Given the description of an element on the screen output the (x, y) to click on. 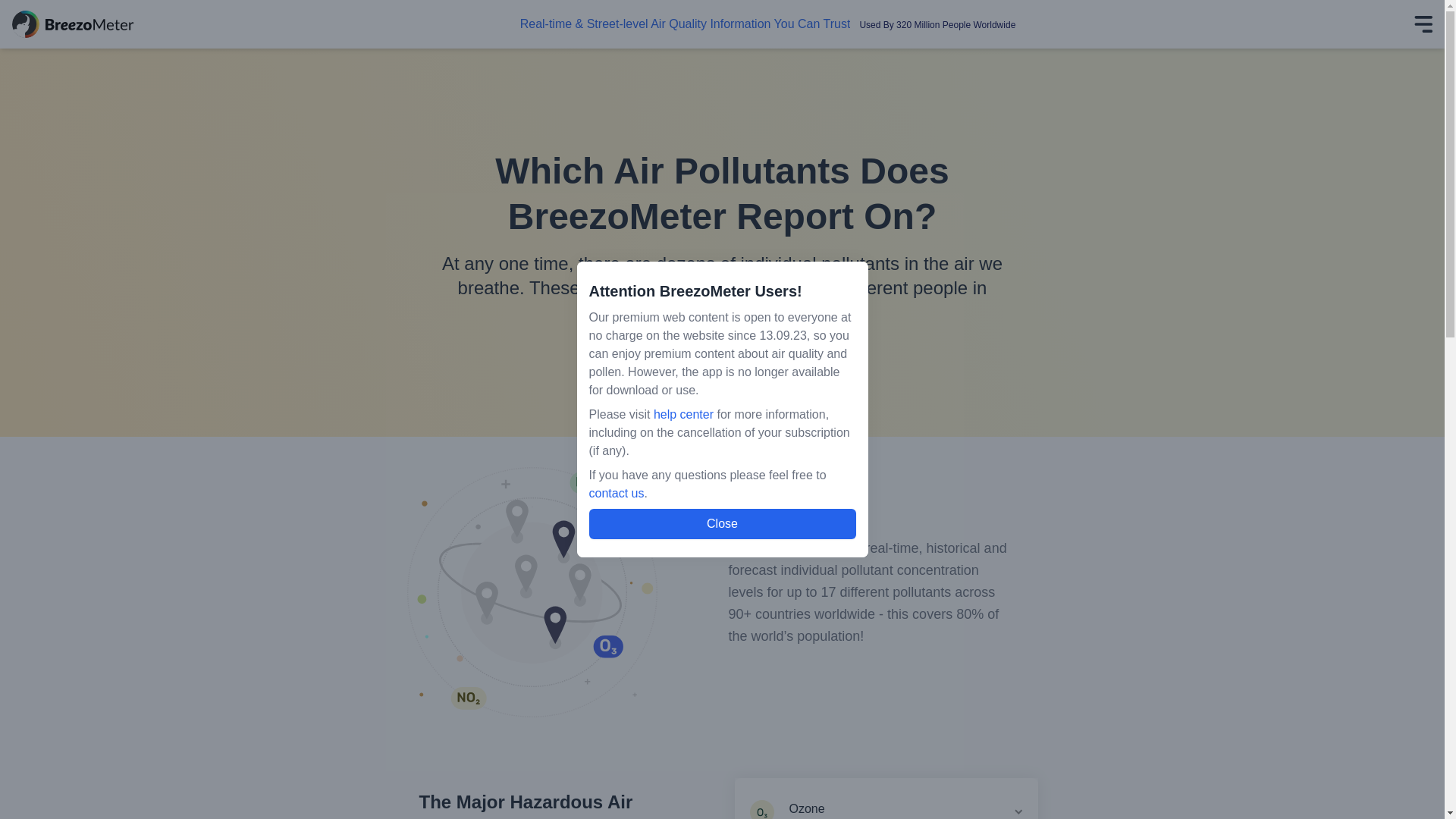
Close (722, 523)
help center (683, 413)
contact us (615, 492)
